Given the description of an element on the screen output the (x, y) to click on. 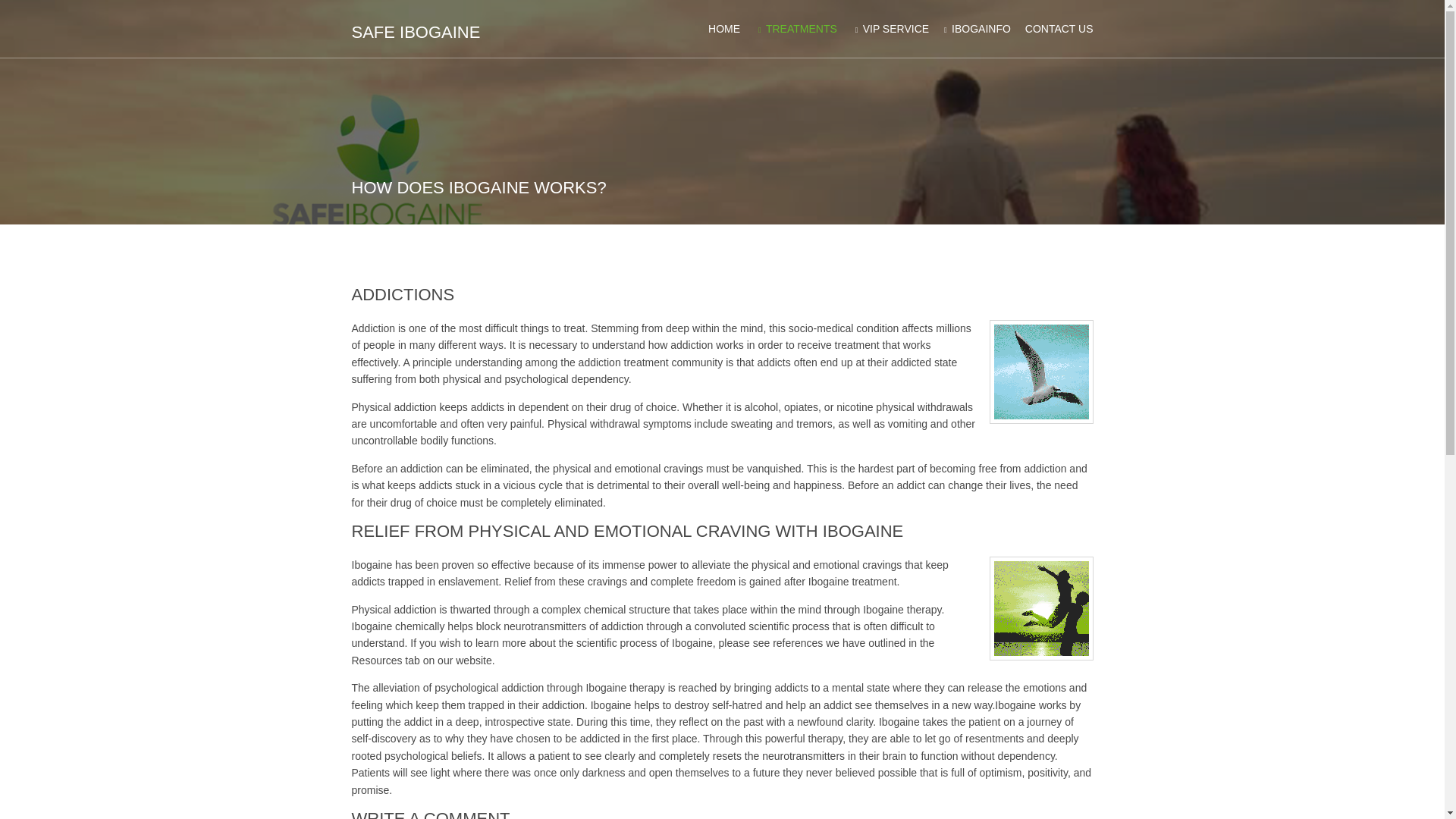
VIP SERVICE (889, 28)
SAFE IBOGAINE (416, 31)
IBOGAINFO (975, 28)
CONTACT US (1059, 28)
TREATMENTS (795, 28)
